Given the description of an element on the screen output the (x, y) to click on. 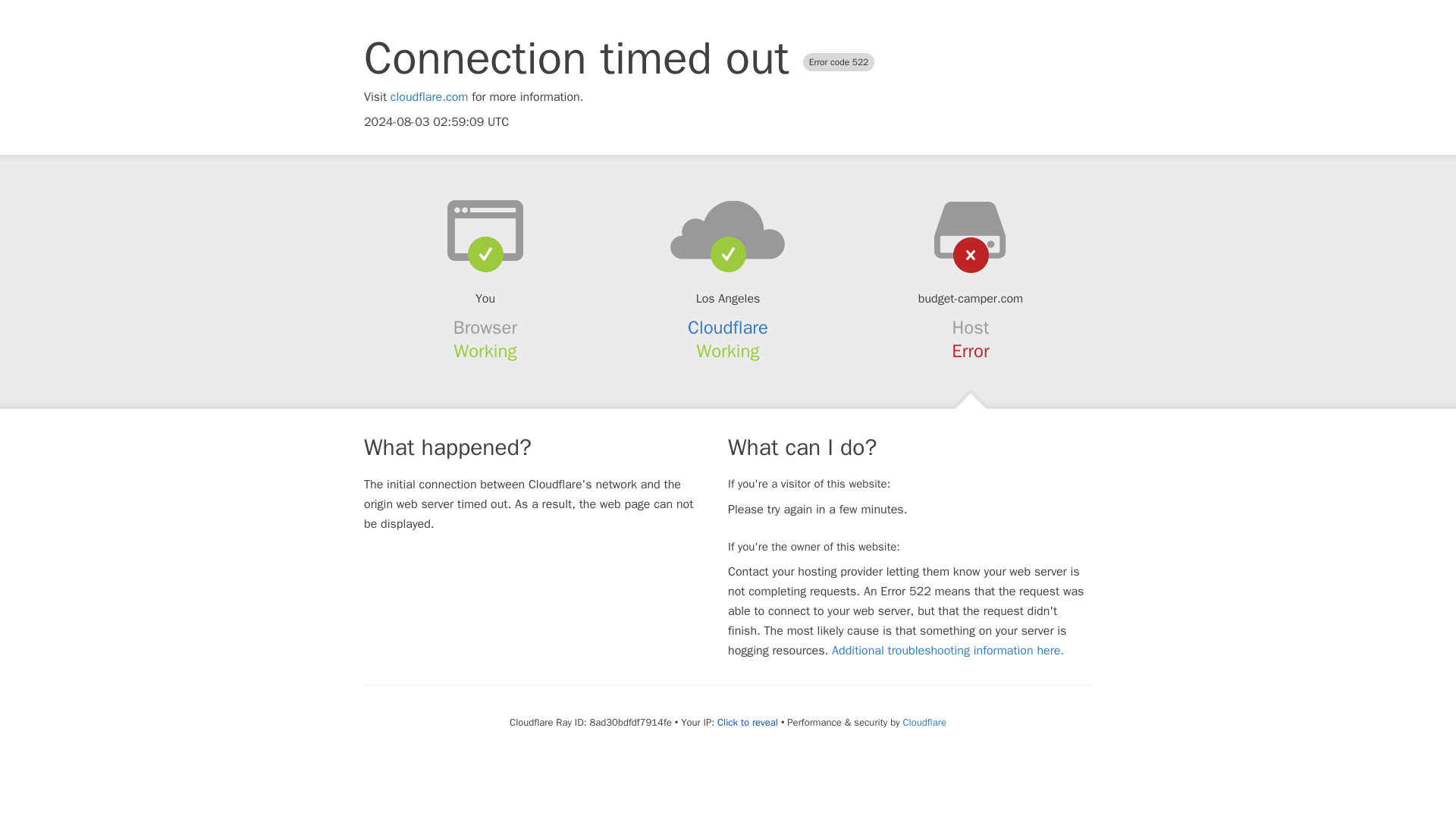
Cloudflare (727, 327)
cloudflare.com (429, 96)
Cloudflare (924, 721)
Click to reveal (747, 722)
Additional troubleshooting information here. (947, 650)
